Given the description of an element on the screen output the (x, y) to click on. 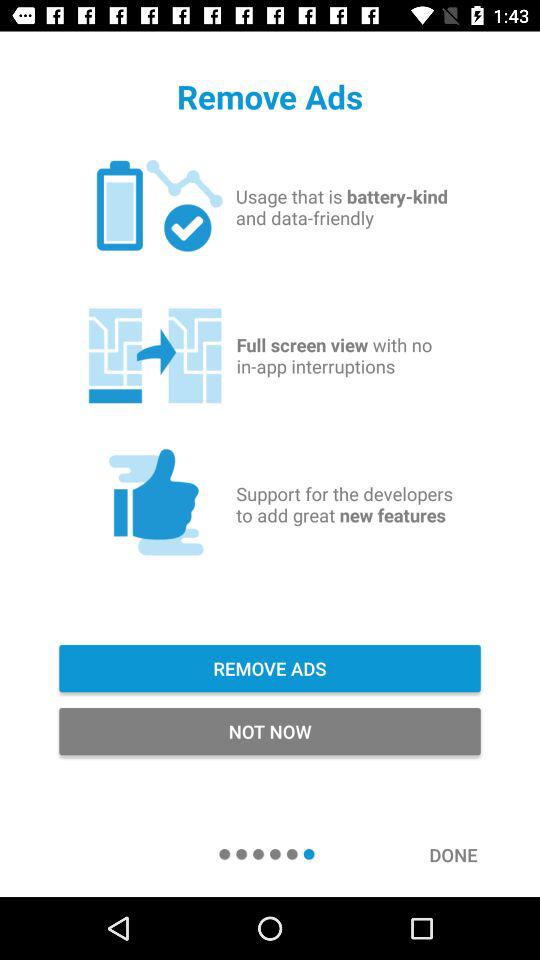
choose the button below the remove ads icon (269, 731)
